Given the description of an element on the screen output the (x, y) to click on. 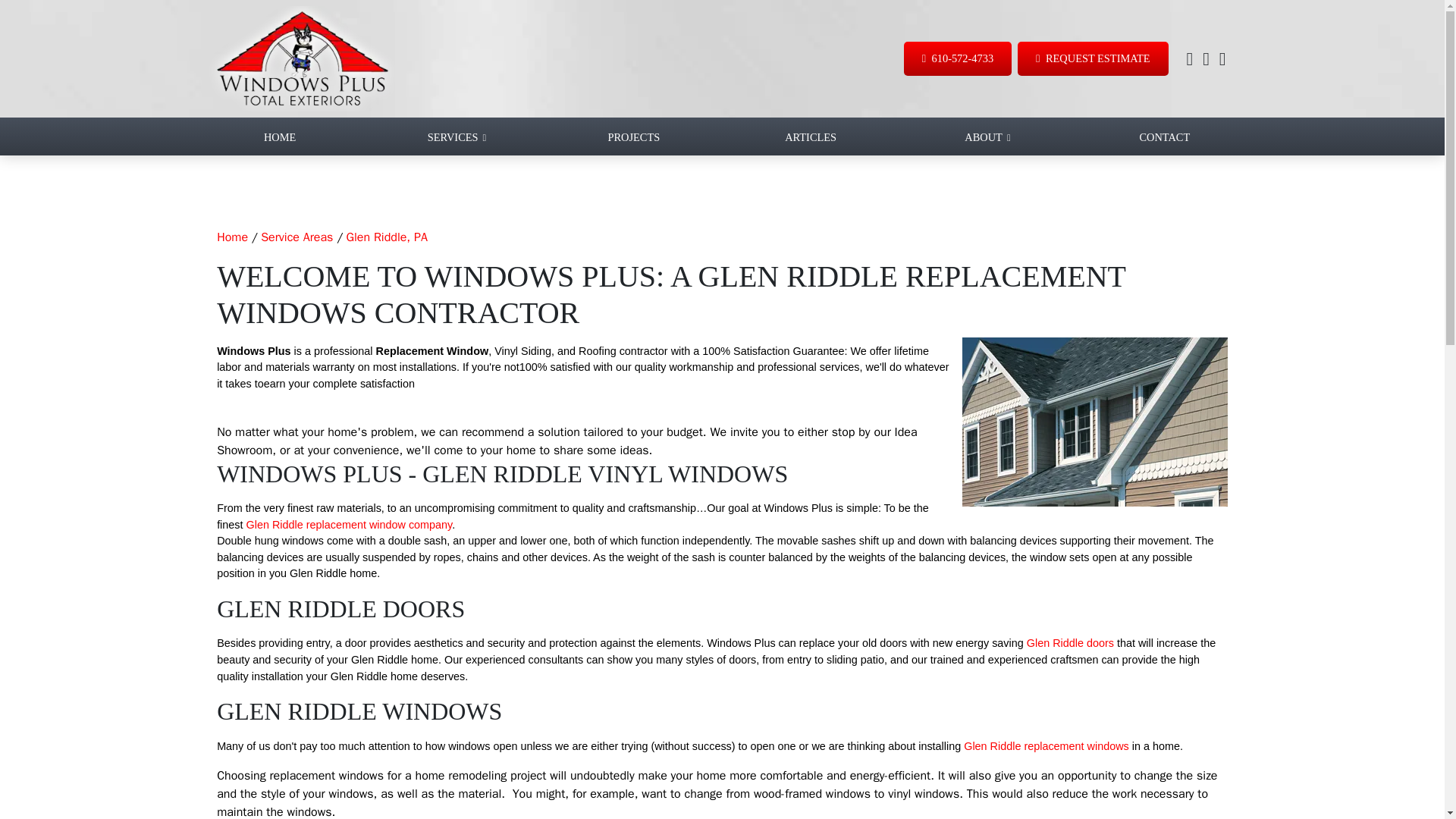
Glen Riddle, PA (386, 237)
Service Areas (296, 237)
Home (231, 237)
